Given the description of an element on the screen output the (x, y) to click on. 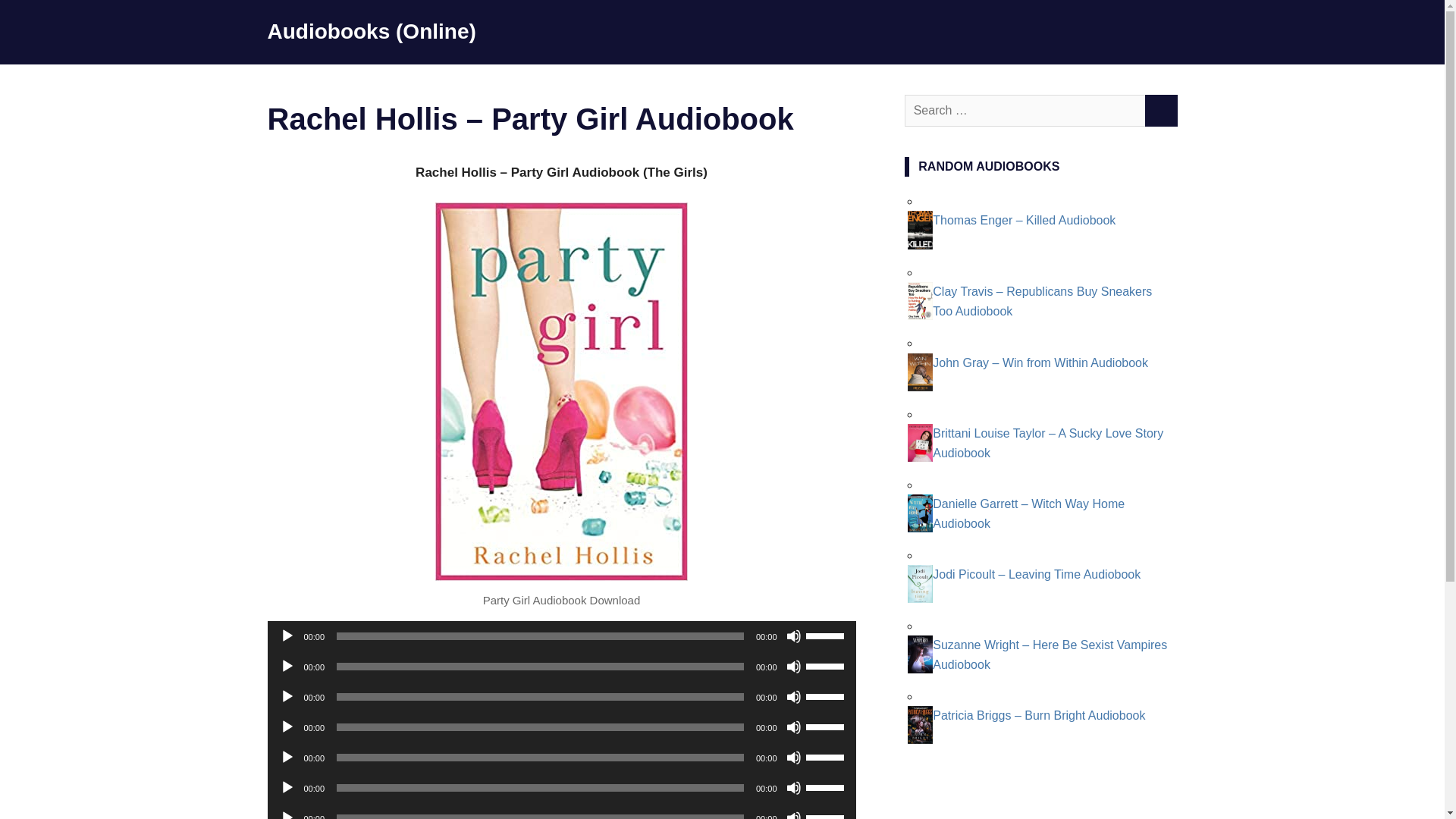
Play (286, 635)
Mute (793, 696)
Play (286, 787)
Play (286, 696)
Mute (793, 666)
Mute (793, 635)
Mute (793, 814)
Play (286, 726)
Play (286, 814)
Mute (793, 757)
Play (286, 666)
Mute (793, 726)
Mute (793, 787)
Play (286, 757)
